Given the description of an element on the screen output the (x, y) to click on. 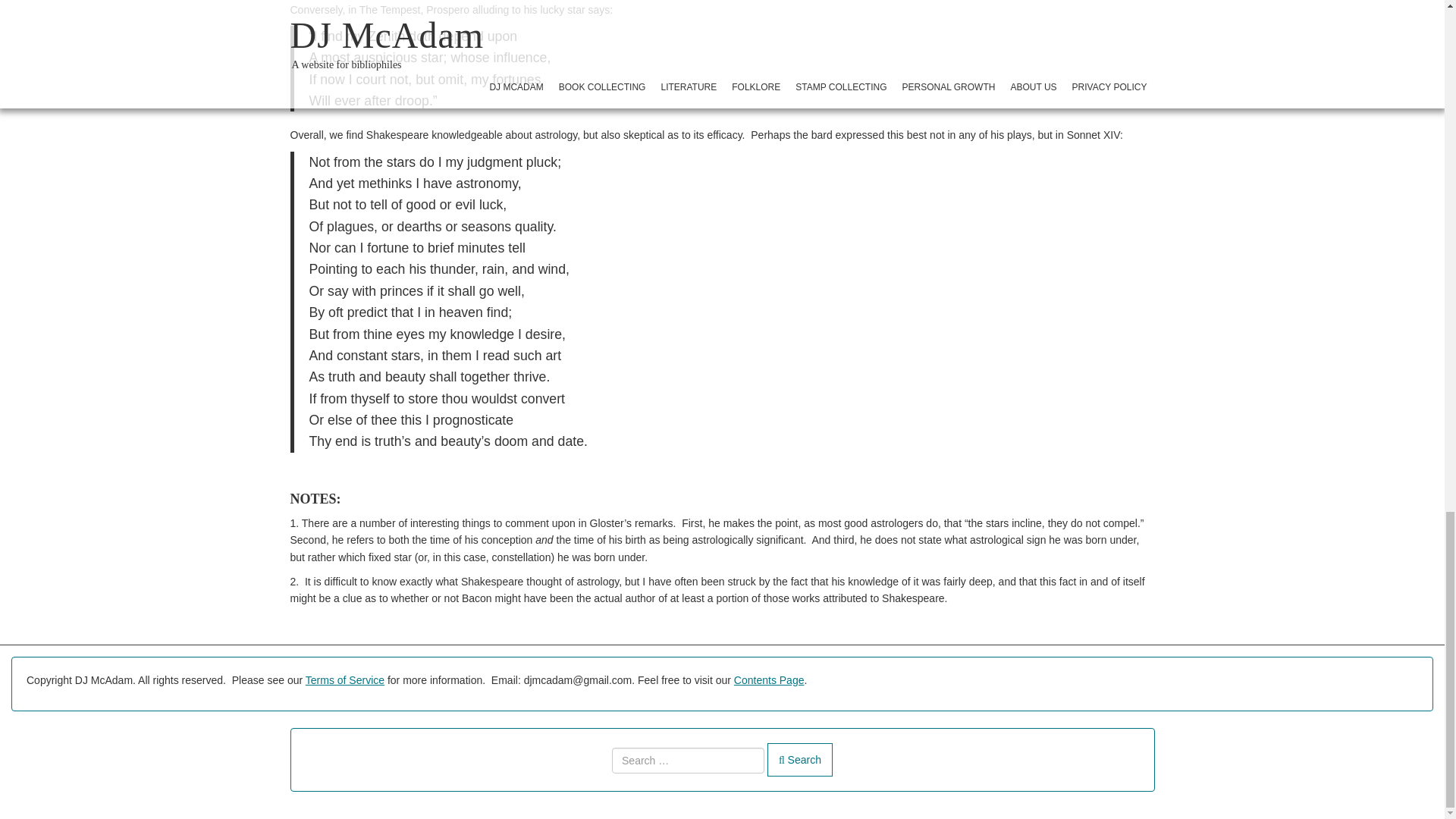
Terms of Service (344, 680)
Contents Page (769, 680)
 Search (799, 759)
